Given the description of an element on the screen output the (x, y) to click on. 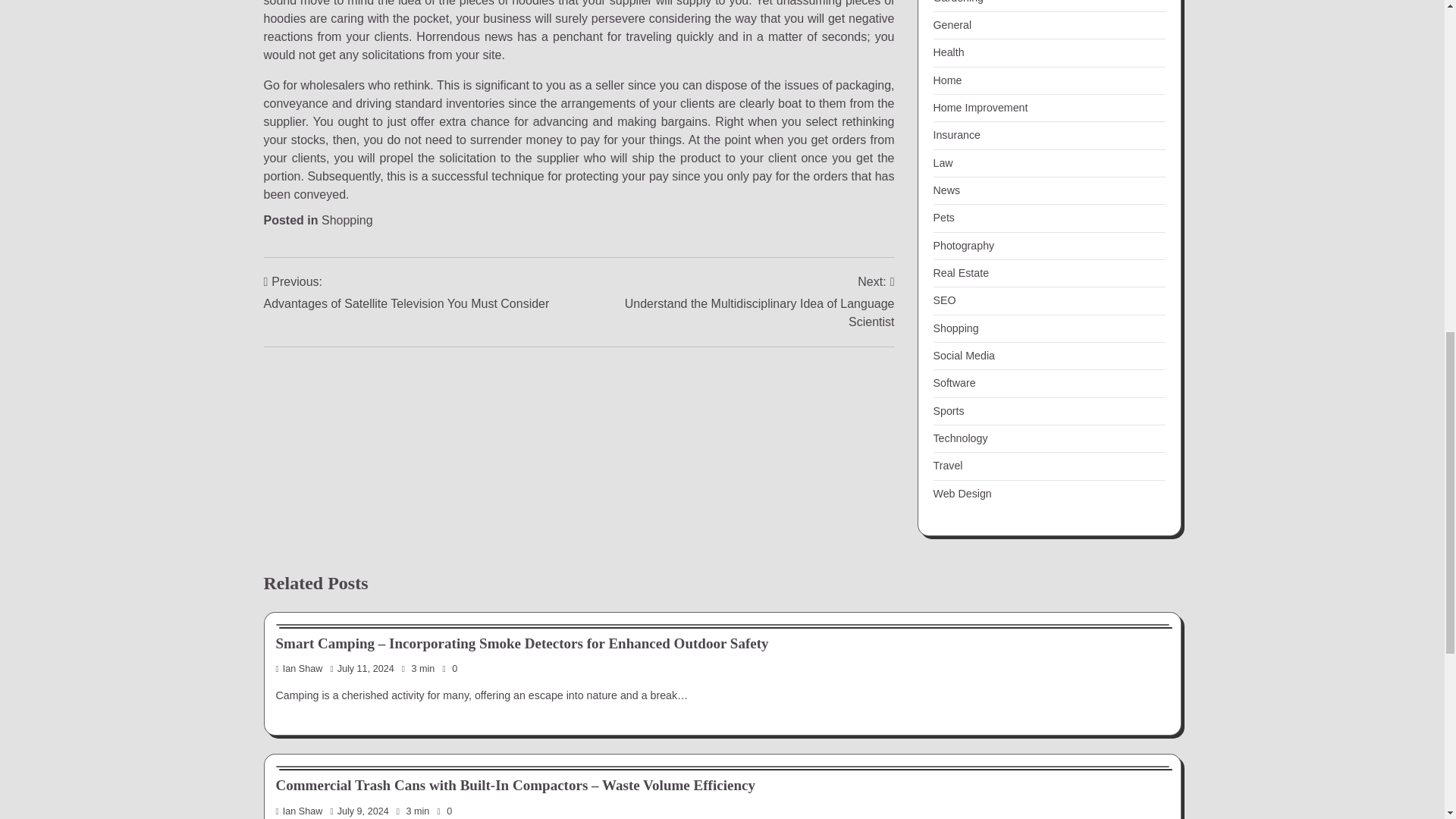
Shopping (346, 219)
Insurance (956, 134)
Gardening (957, 2)
Health (948, 51)
News (946, 190)
Home Improvement (980, 107)
Home (946, 80)
General (952, 24)
Law (942, 162)
